Given the description of an element on the screen output the (x, y) to click on. 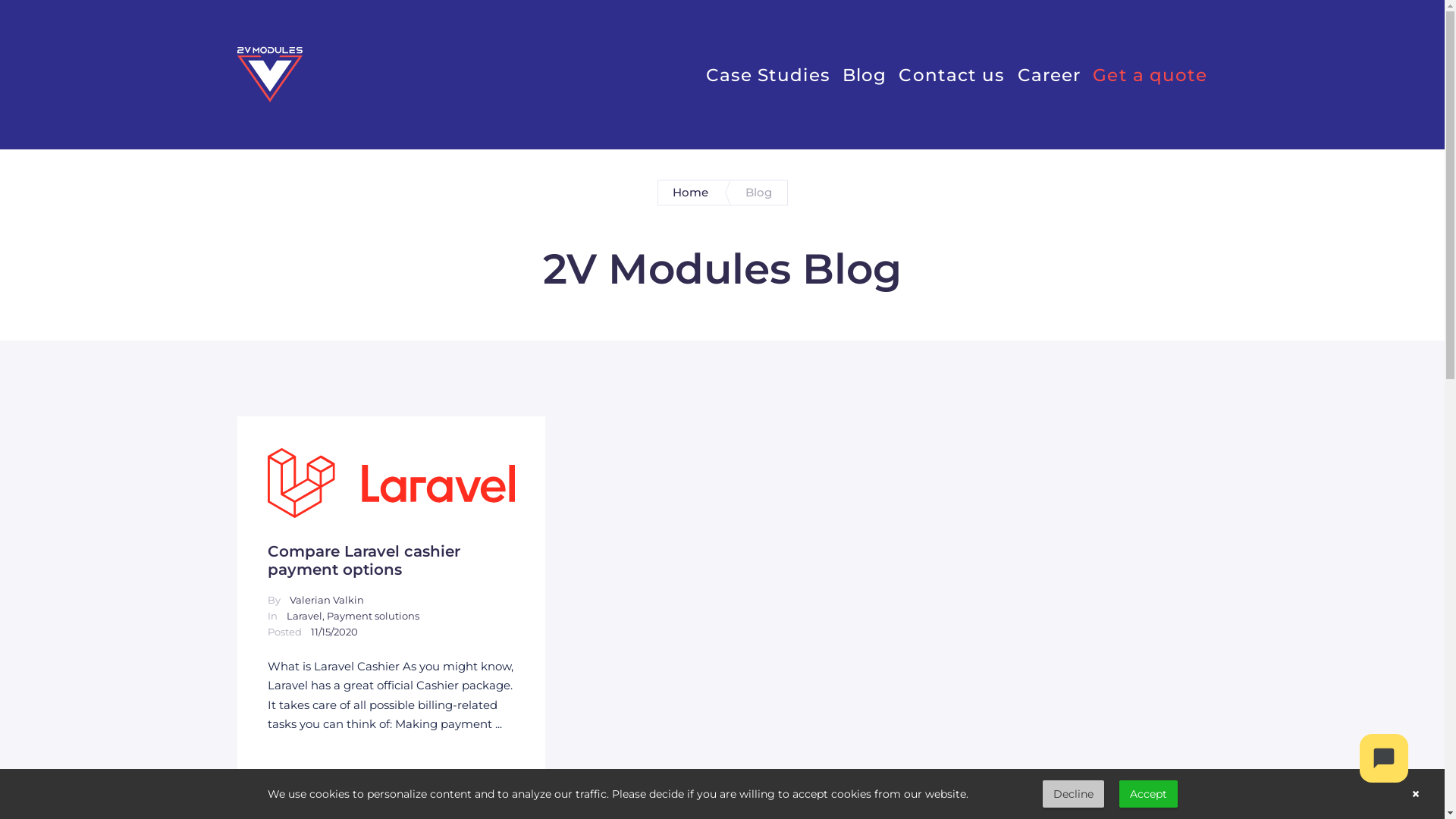
Blog Element type: text (864, 73)
Get a quote Element type: text (1149, 73)
Decline Element type: text (1072, 793)
Compare Laravel cashier payment options Element type: hover (390, 482)
Contact us Element type: text (951, 73)
Home Element type: text (690, 192)
Chatbot Element type: hover (1383, 757)
Case Studies Element type: text (767, 73)
Accept Element type: text (1148, 793)
Career Element type: text (1049, 73)
